Given the description of an element on the screen output the (x, y) to click on. 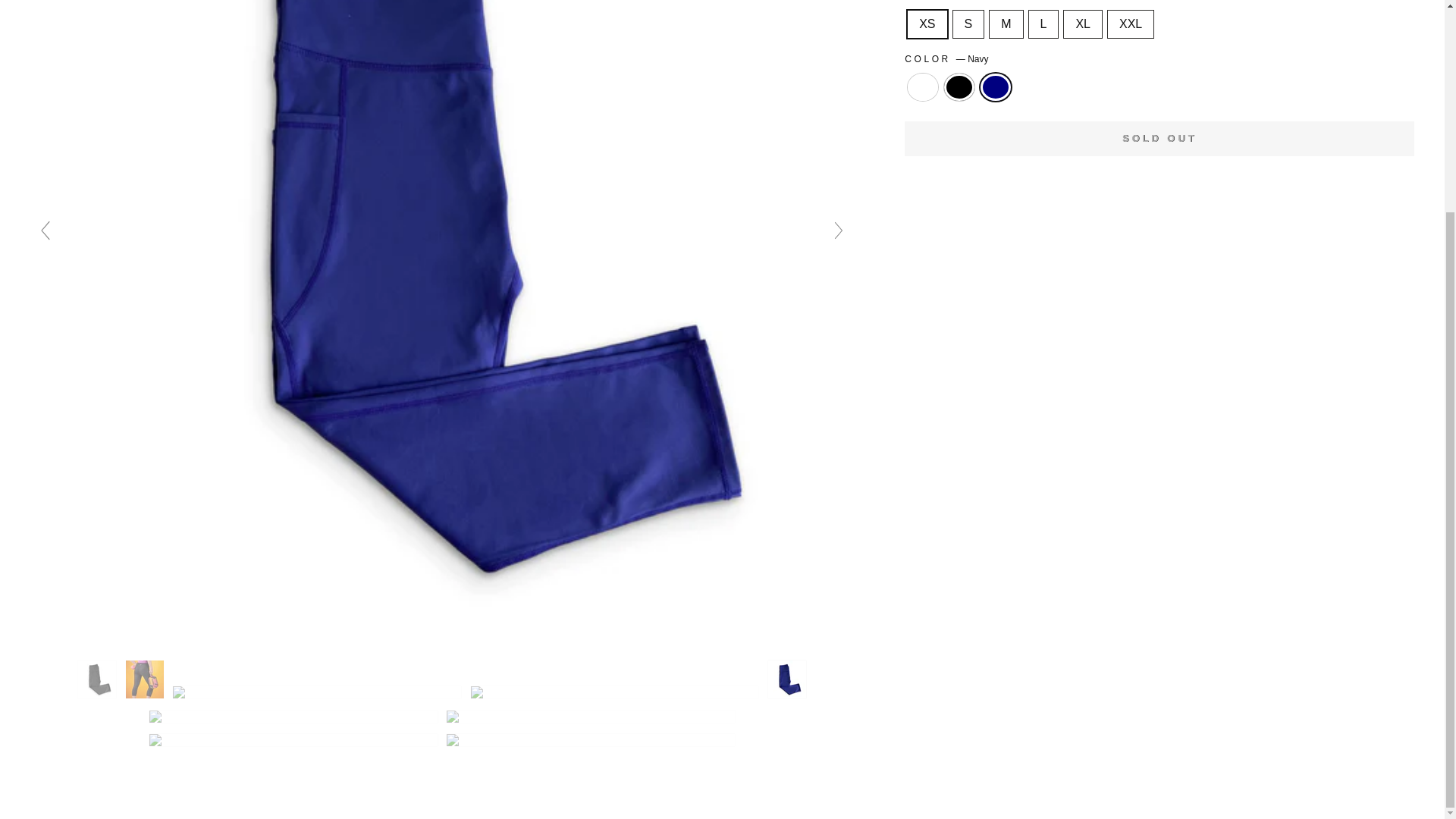
Baddle Pickleball Women's Mid-Rise Capri Legging (293, 739)
Baddle Pickleball Women's Mid-Rise Capri Legging (144, 679)
Baddle Pickleball Women's Mid-Rise Capri Legging (614, 692)
Baddle Pickleball Women's Mid-Rise Capri Legging (590, 716)
Baddle Pickleball Women's Mid-Rise Capri Legging (590, 739)
Baddle Pickleball Women's Mid-Rise Capri Legging (293, 716)
Baddle Pickleball Women's Mid-Rise Capri Legging (317, 692)
